Given the description of an element on the screen output the (x, y) to click on. 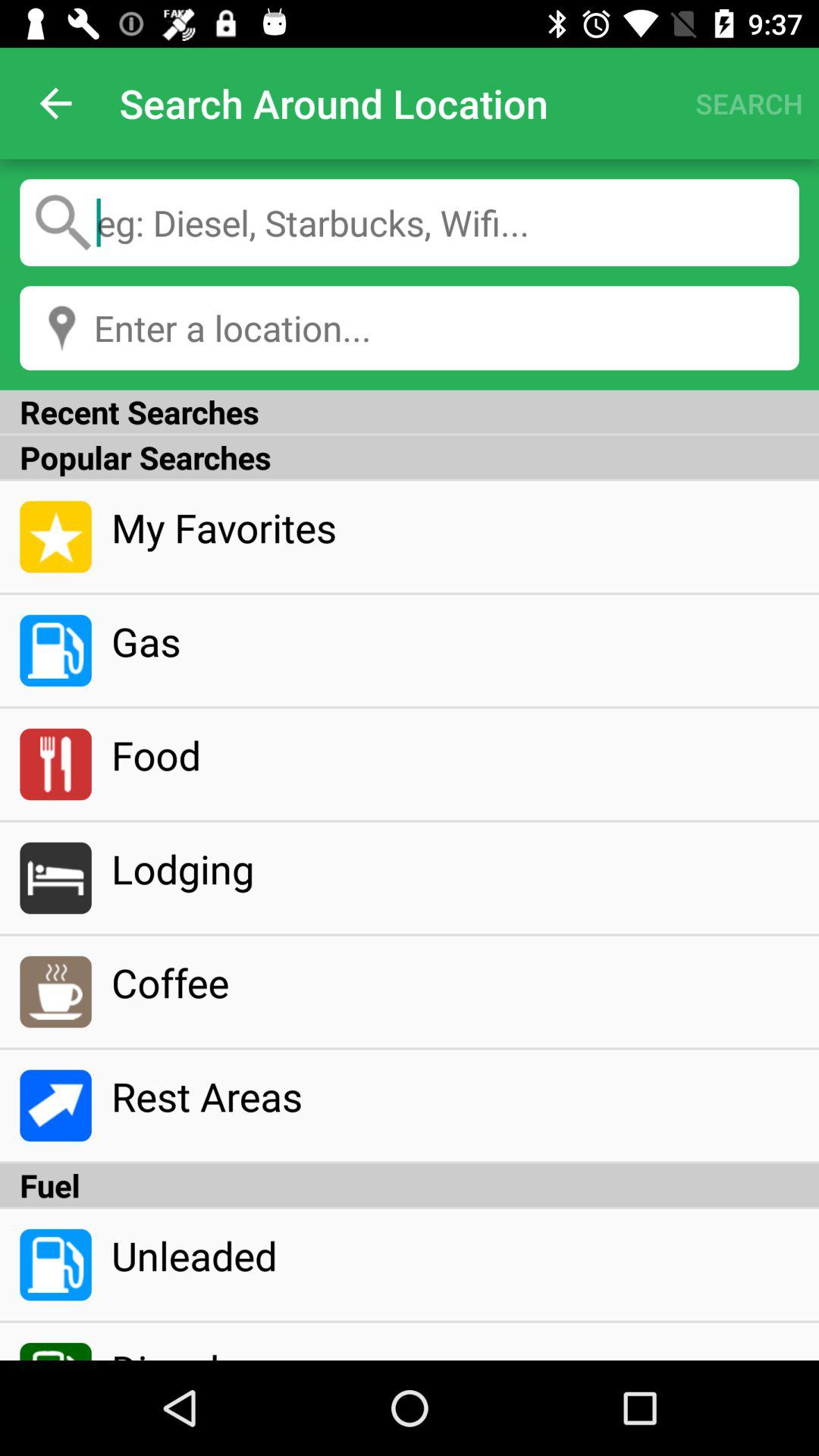
turn on icon above the unleaded (409, 1184)
